Given the description of an element on the screen output the (x, y) to click on. 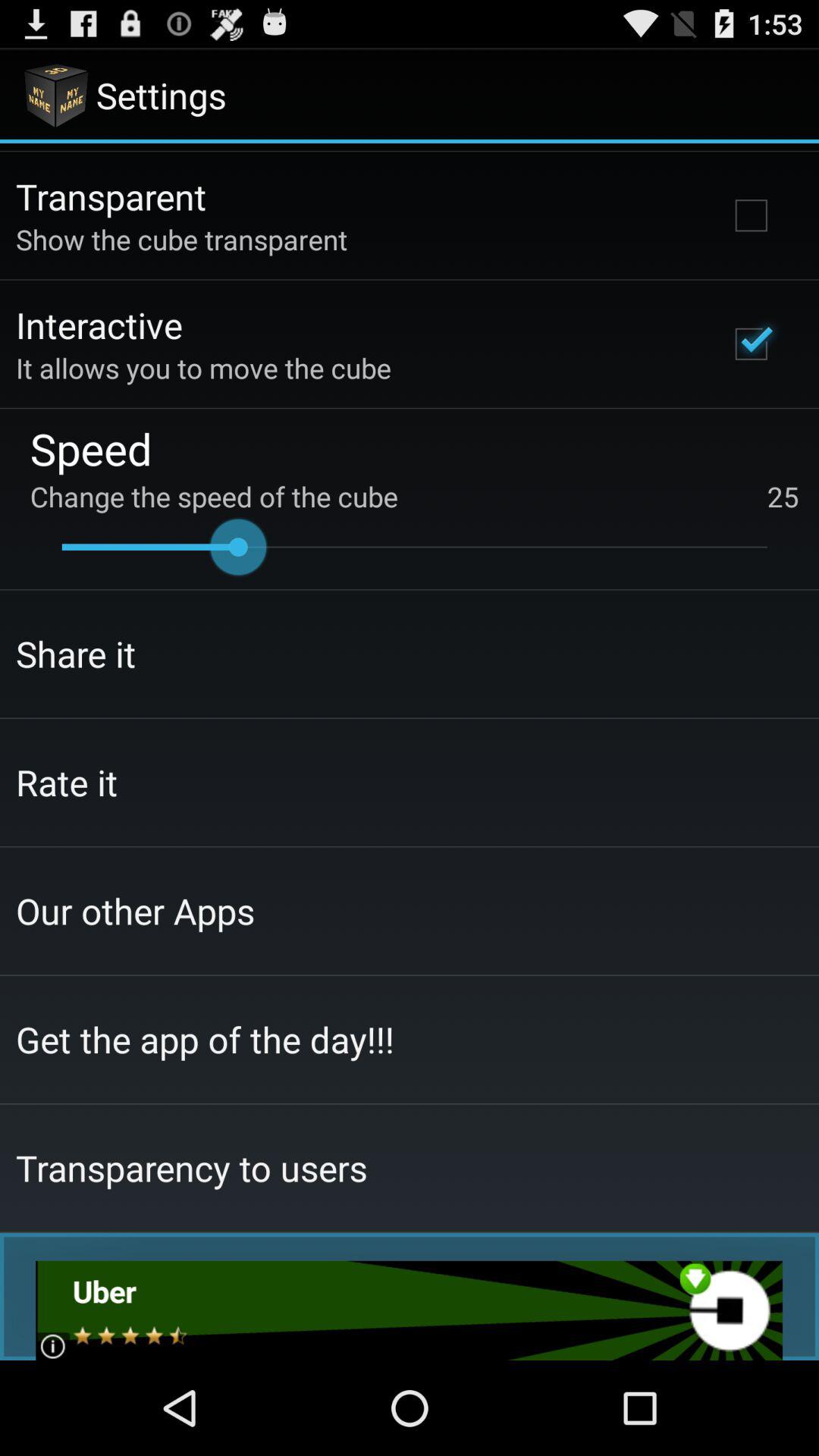
open the rate it icon (66, 782)
